Given the description of an element on the screen output the (x, y) to click on. 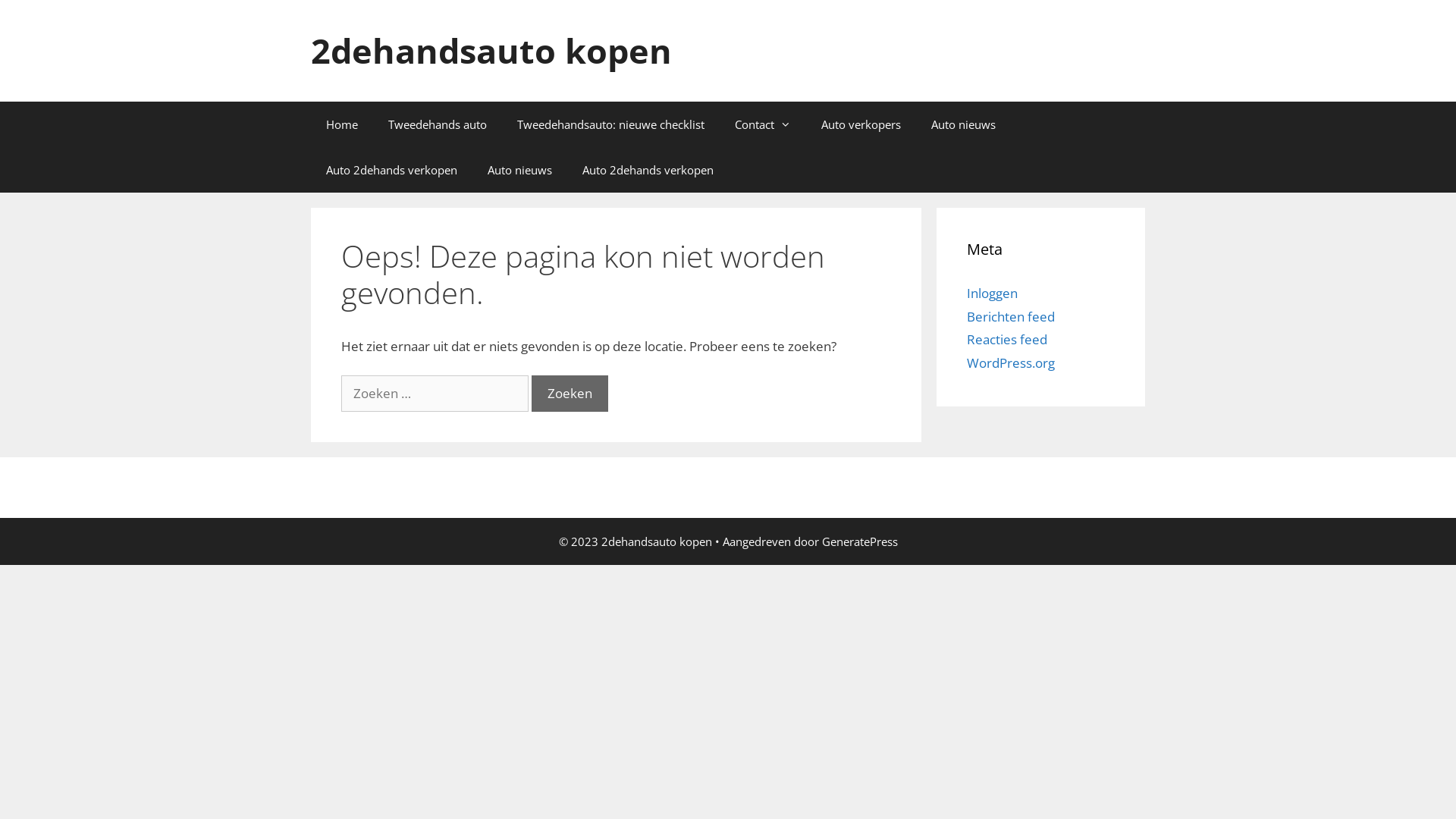
Zoek naar: Element type: hover (434, 393)
Tweedehandsauto: nieuwe checklist Element type: text (610, 124)
Inloggen Element type: text (991, 292)
Auto 2dehands verkopen Element type: text (647, 169)
Auto verkopers Element type: text (861, 124)
Auto nieuws Element type: text (963, 124)
Home Element type: text (341, 124)
Reacties feed Element type: text (1006, 339)
2dehandsauto kopen Element type: text (490, 50)
Zoeken Element type: text (569, 393)
Contact Element type: text (762, 124)
WordPress.org Element type: text (1010, 361)
GeneratePress Element type: text (859, 541)
Auto nieuws Element type: text (519, 169)
Tweedehands auto Element type: text (437, 124)
Auto 2dehands verkopen Element type: text (391, 169)
Berichten feed Element type: text (1010, 316)
